Given the description of an element on the screen output the (x, y) to click on. 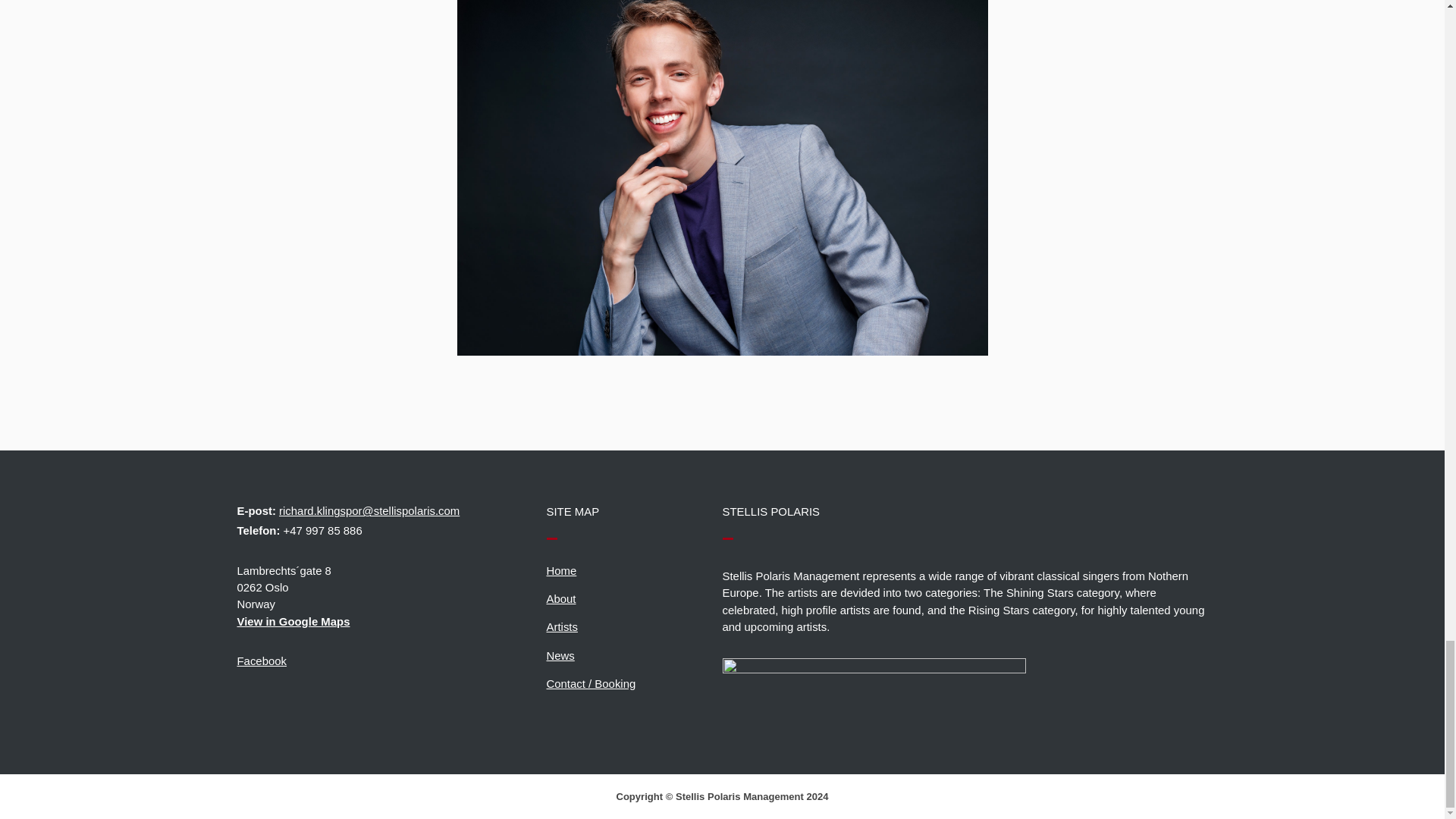
View in Google Maps (390, 621)
Call us (322, 530)
Artists (561, 626)
View in Google Maps (390, 621)
Facebook (260, 660)
News (559, 654)
Send us an e-post (369, 510)
About (560, 598)
Follow us on Facebook (260, 660)
Home (561, 570)
